Given the description of an element on the screen output the (x, y) to click on. 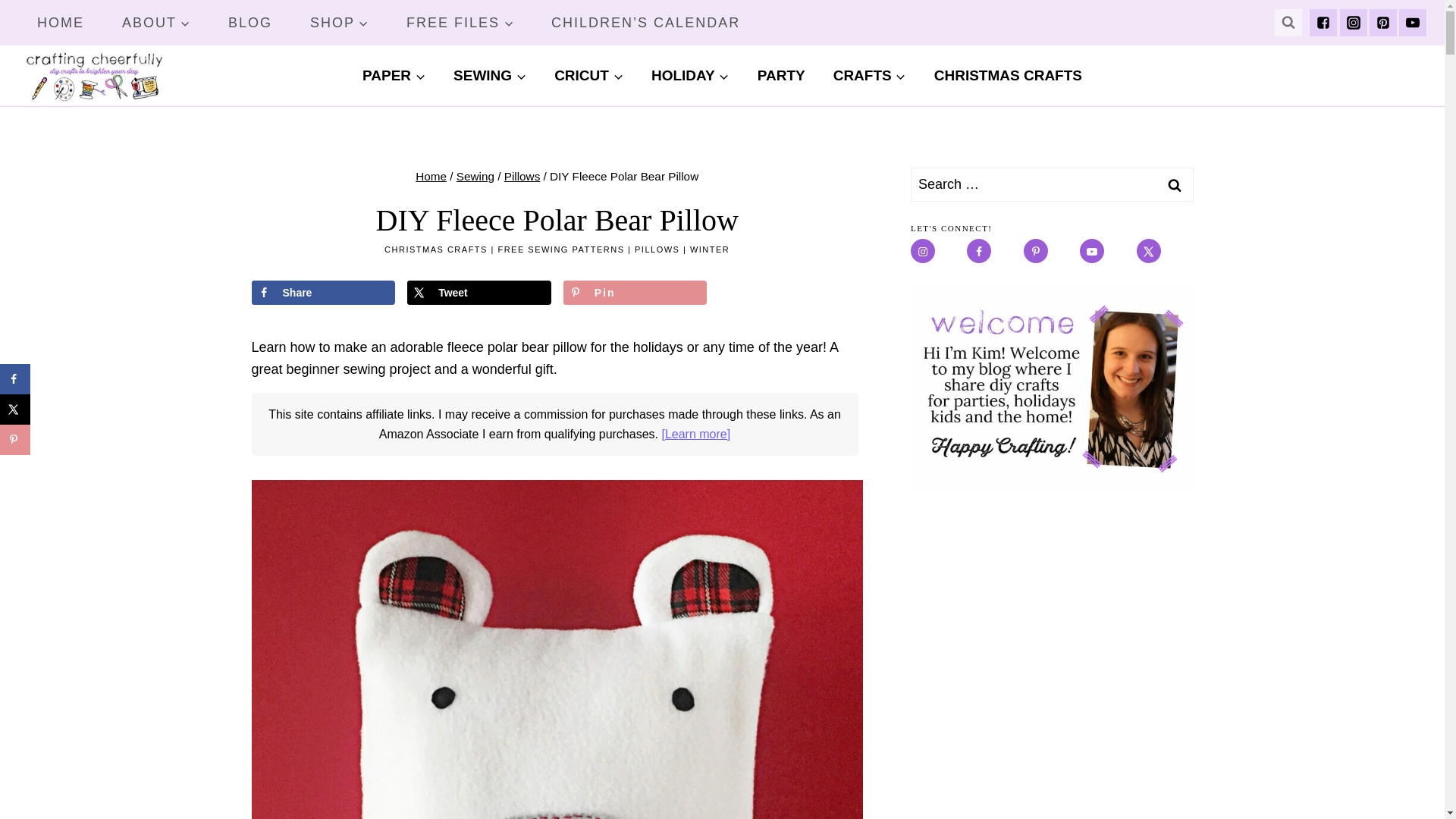
Search (1174, 184)
Save to Pinterest (15, 440)
Share on Facebook (15, 378)
BLOG (250, 22)
SEWING (489, 76)
Share on X (15, 409)
PAPER (394, 76)
ABOUT (156, 22)
Search (1174, 184)
Follow on Instagram (922, 250)
